Given the description of an element on the screen output the (x, y) to click on. 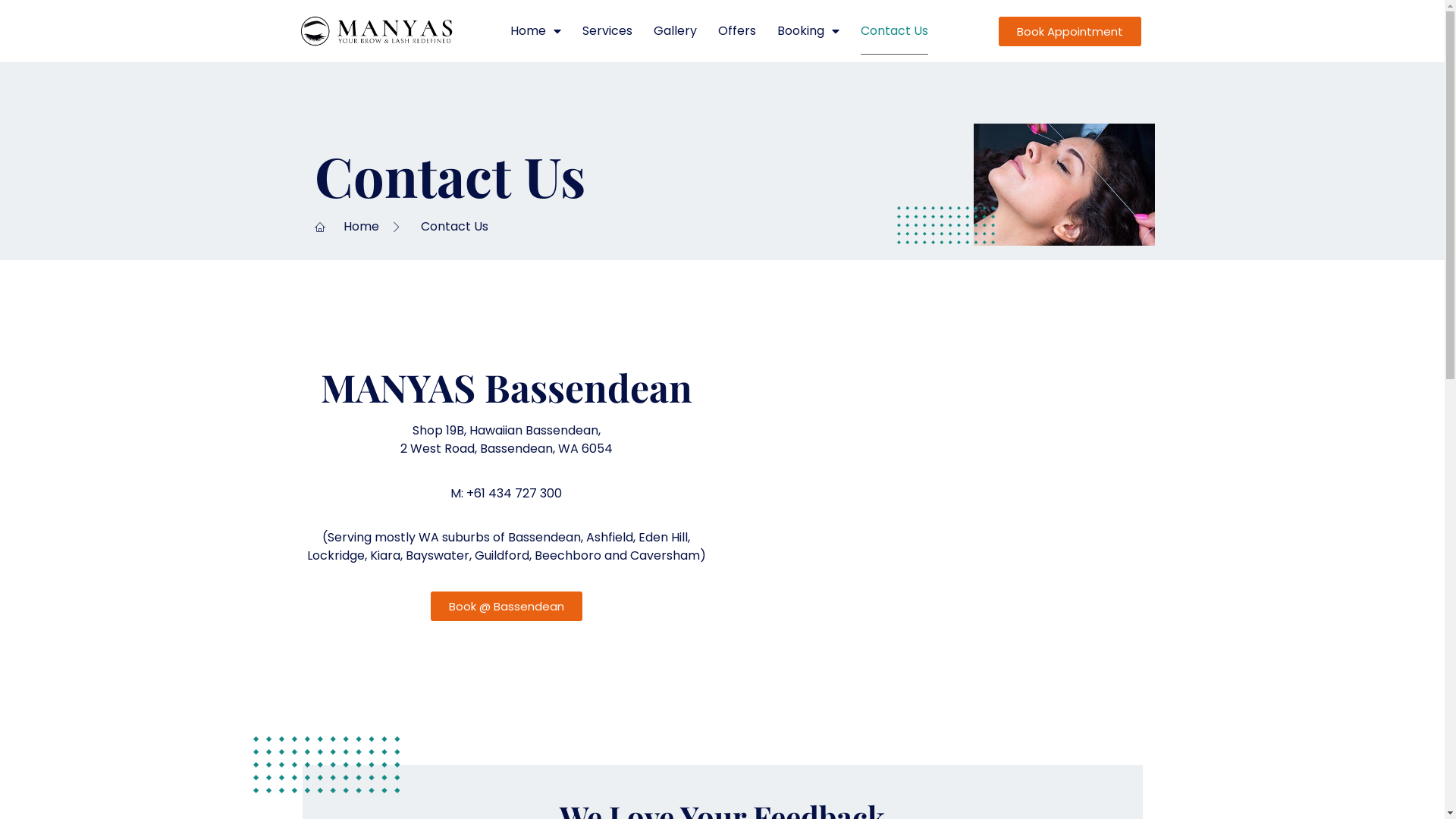
Booking Element type: text (808, 30)
Book @ Bassendean Element type: text (506, 606)
Services Element type: text (607, 30)
Contact Us Element type: text (894, 30)
Book Appointment Element type: text (1069, 31)
Home Element type: text (535, 30)
Offers Element type: text (737, 30)
Gallery Element type: text (674, 30)
pattern_1.png Element type: hover (945, 225)
pattern_1.png Element type: hover (326, 764)
